Given the description of an element on the screen output the (x, y) to click on. 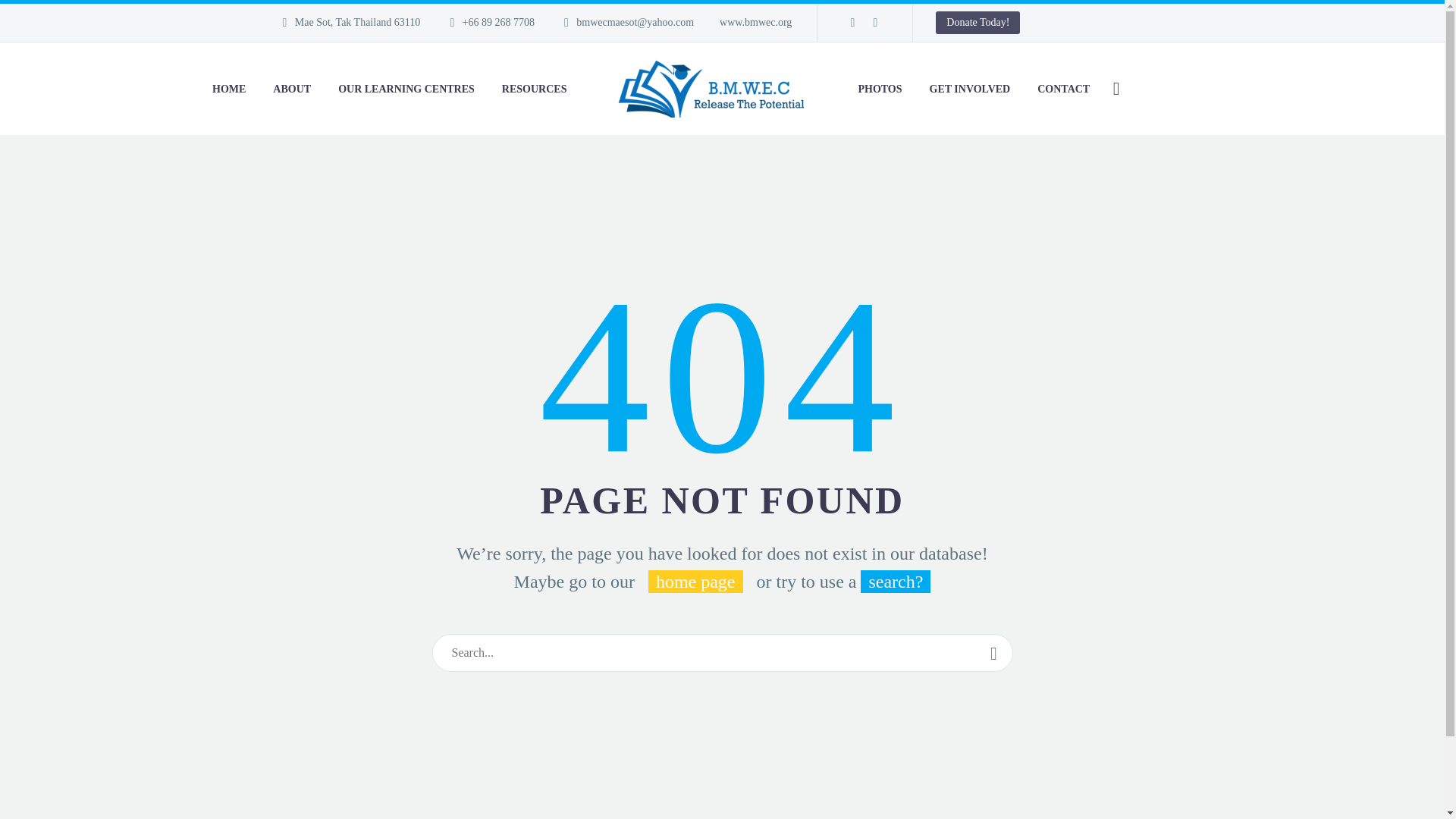
PHOTOS (878, 87)
RESOURCES (534, 87)
404 (722, 373)
GET INVOLVED (970, 87)
home page (694, 581)
OUR LEARNING CENTRES (406, 87)
CONTACT (1063, 87)
HOME (228, 87)
search? (895, 581)
Donate Today! (978, 22)
